Given the description of an element on the screen output the (x, y) to click on. 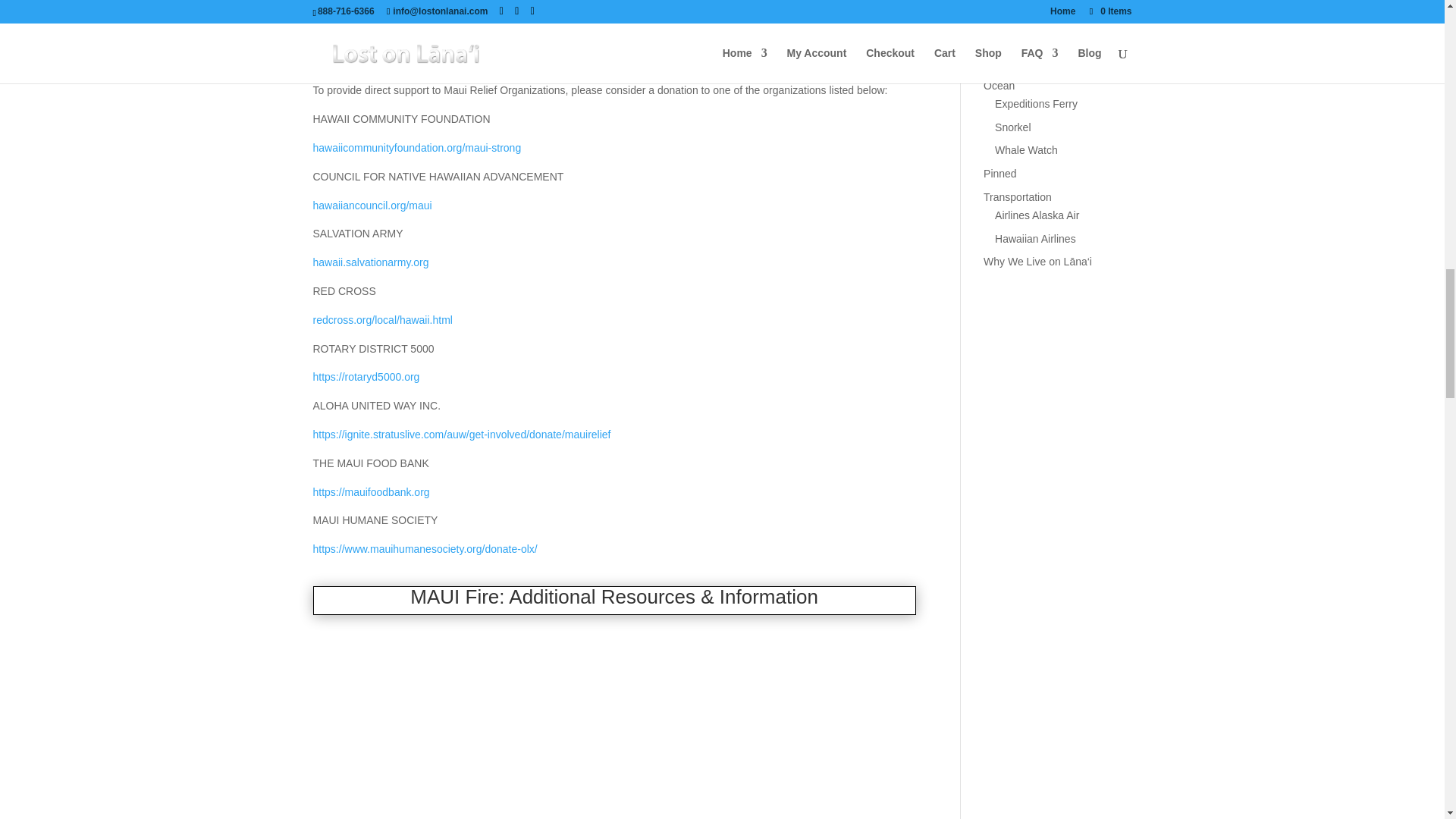
Link to Maui Chamber of Commerce (398, 61)
